Given the description of an element on the screen output the (x, y) to click on. 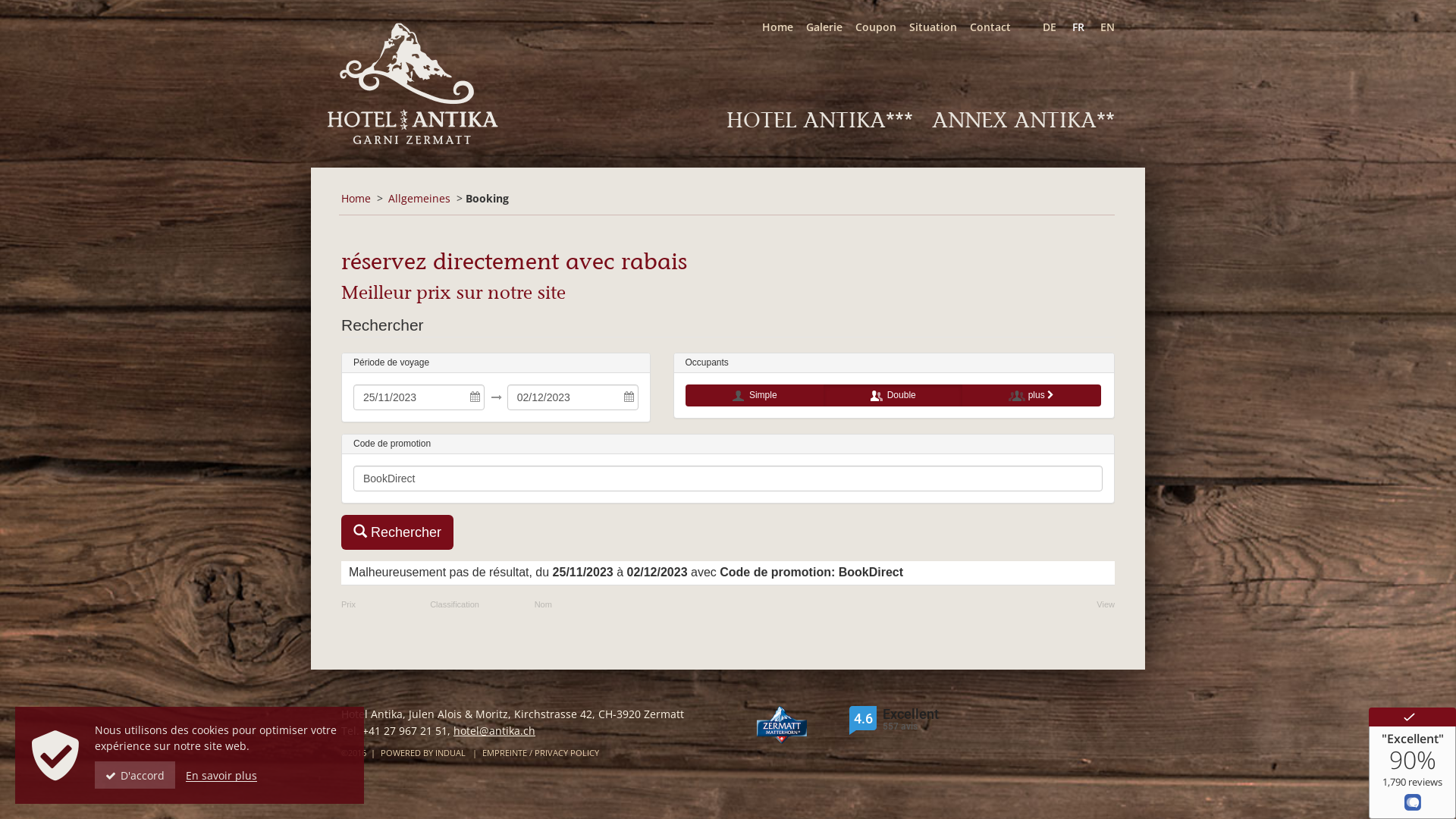
Double Element type: text (892, 395)
Home Element type: text (771, 26)
Rechercher Element type: text (397, 531)
plus Element type: text (1030, 395)
Simple Element type: text (754, 395)
D'accord Element type: text (134, 774)
POWERED BY INDUAL Element type: text (423, 752)
ANNEX ANTIKA** Element type: text (1022, 119)
FR Element type: text (1071, 26)
EN Element type: text (1100, 26)
Home Element type: text (355, 198)
DE Element type: text (1042, 26)
Galerie Element type: text (817, 26)
HOTEL ANTIKA*** Element type: text (819, 119)
hotel@antika.ch Element type: text (494, 730)
En savoir plus Element type: text (221, 775)
EMPREINTE / PRIVACY POLICY Element type: text (540, 752)
Contact Element type: text (983, 26)
Situation Element type: text (926, 26)
Coupon Element type: text (869, 26)
Allgemeines Element type: text (419, 198)
